Given the description of an element on the screen output the (x, y) to click on. 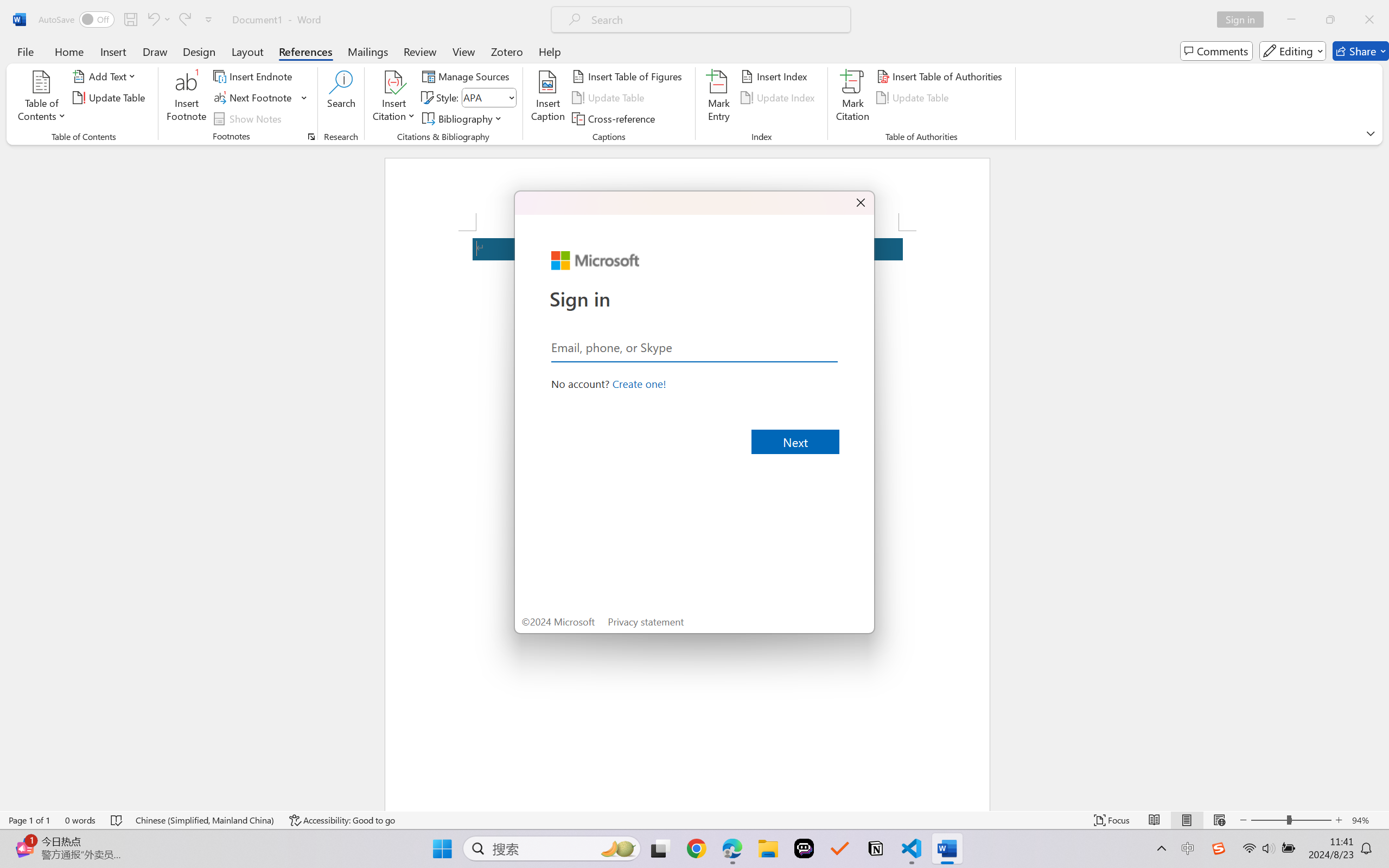
Footnote and Endnote Dialog... (311, 136)
Show Notes (248, 118)
Insert Endnote (253, 75)
Insert Footnote (186, 97)
Update Table (914, 97)
